Given the description of an element on the screen output the (x, y) to click on. 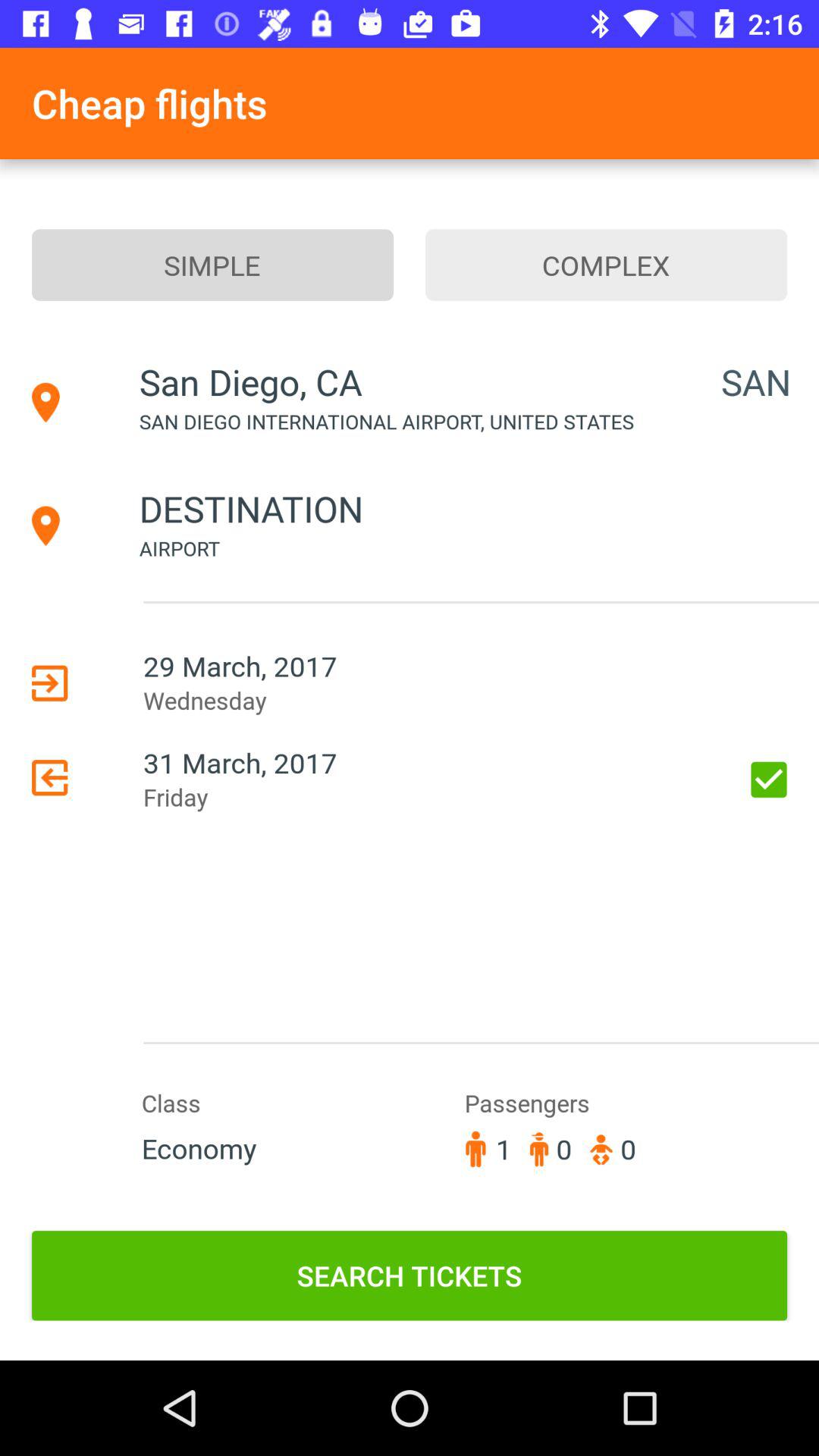
turn off icon above san diego, ca icon (212, 264)
